Given the description of an element on the screen output the (x, y) to click on. 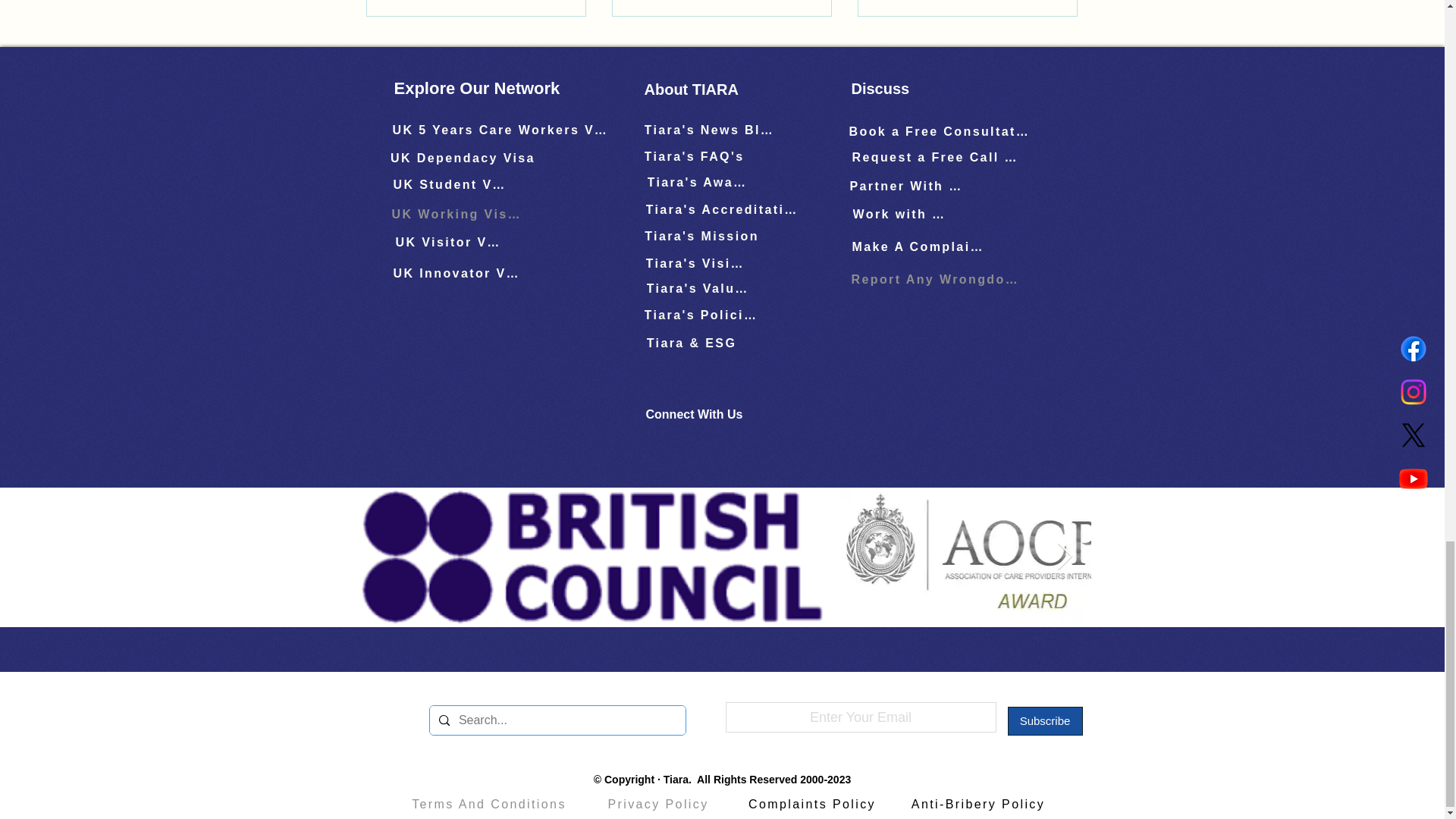
Enter Your Email (860, 716)
